Given the description of an element on the screen output the (x, y) to click on. 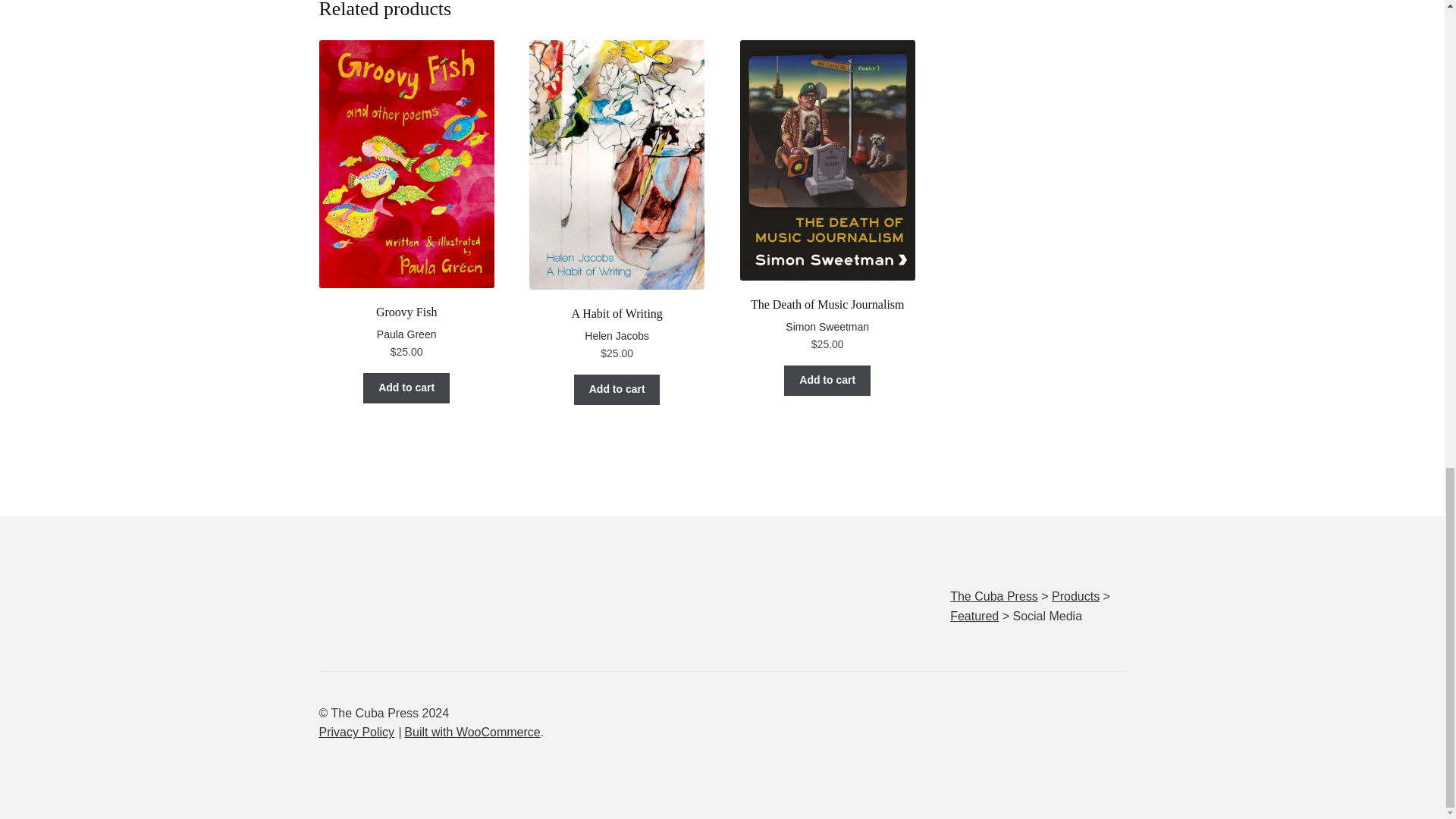
Go to The Cuba Press. (994, 595)
Go to the Featured Category archives. (974, 615)
Go to Products. (1075, 595)
WooCommerce - The Best eCommerce Platform for WordPress (472, 731)
